Given the description of an element on the screen output the (x, y) to click on. 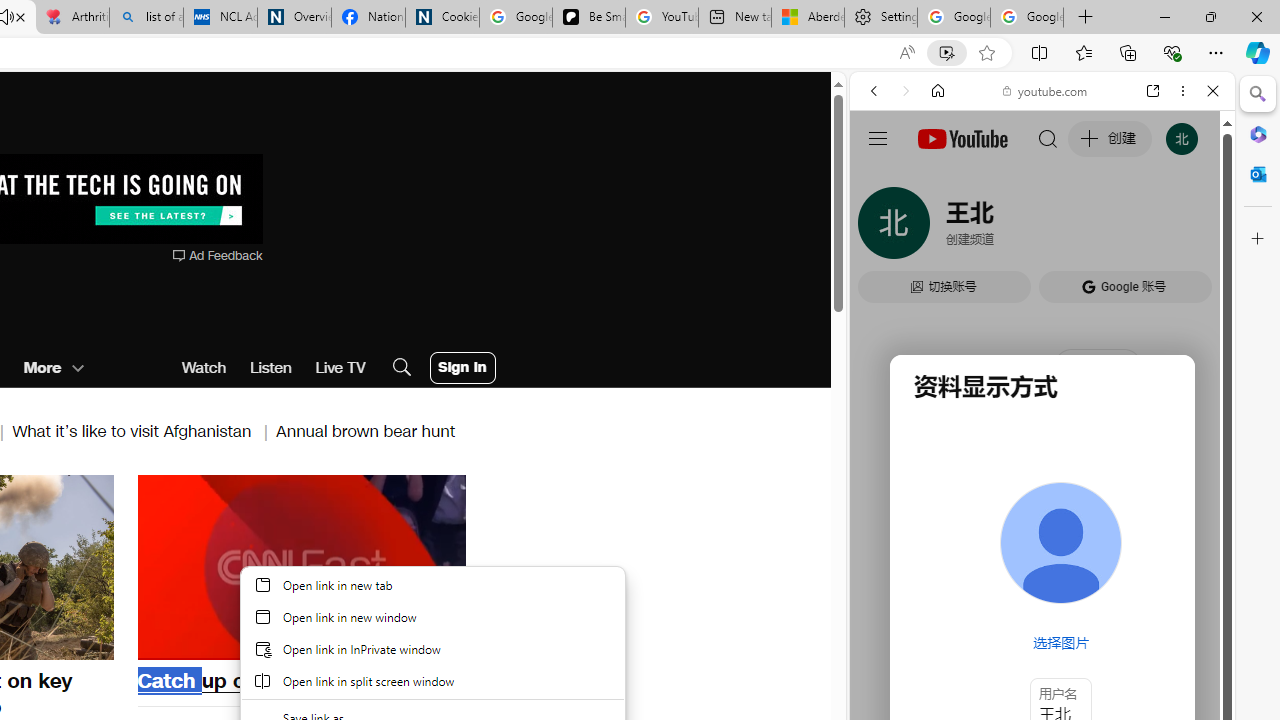
Trailer #2 [HD] (1042, 592)
Options (394, 642)
Options (394, 642)
Live TV (340, 367)
Trailer #2 [HD] (1042, 594)
Fullscreen (438, 642)
Search videos from youtube.com (1005, 657)
Show More Music (1164, 546)
